Given the description of an element on the screen output the (x, y) to click on. 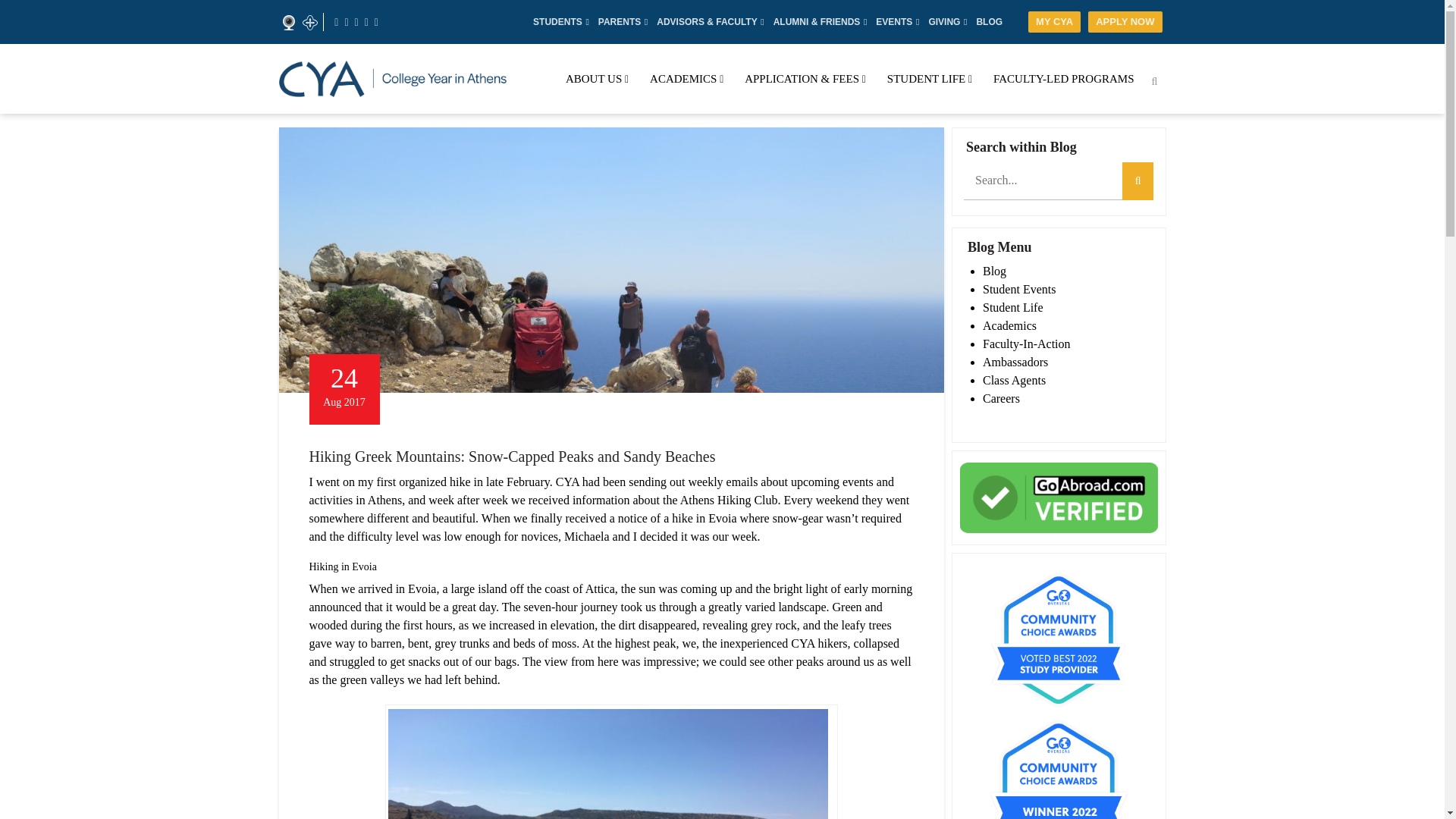
PARENTS (619, 22)
STUDENTS (557, 22)
Logo (392, 78)
